Given the description of an element on the screen output the (x, y) to click on. 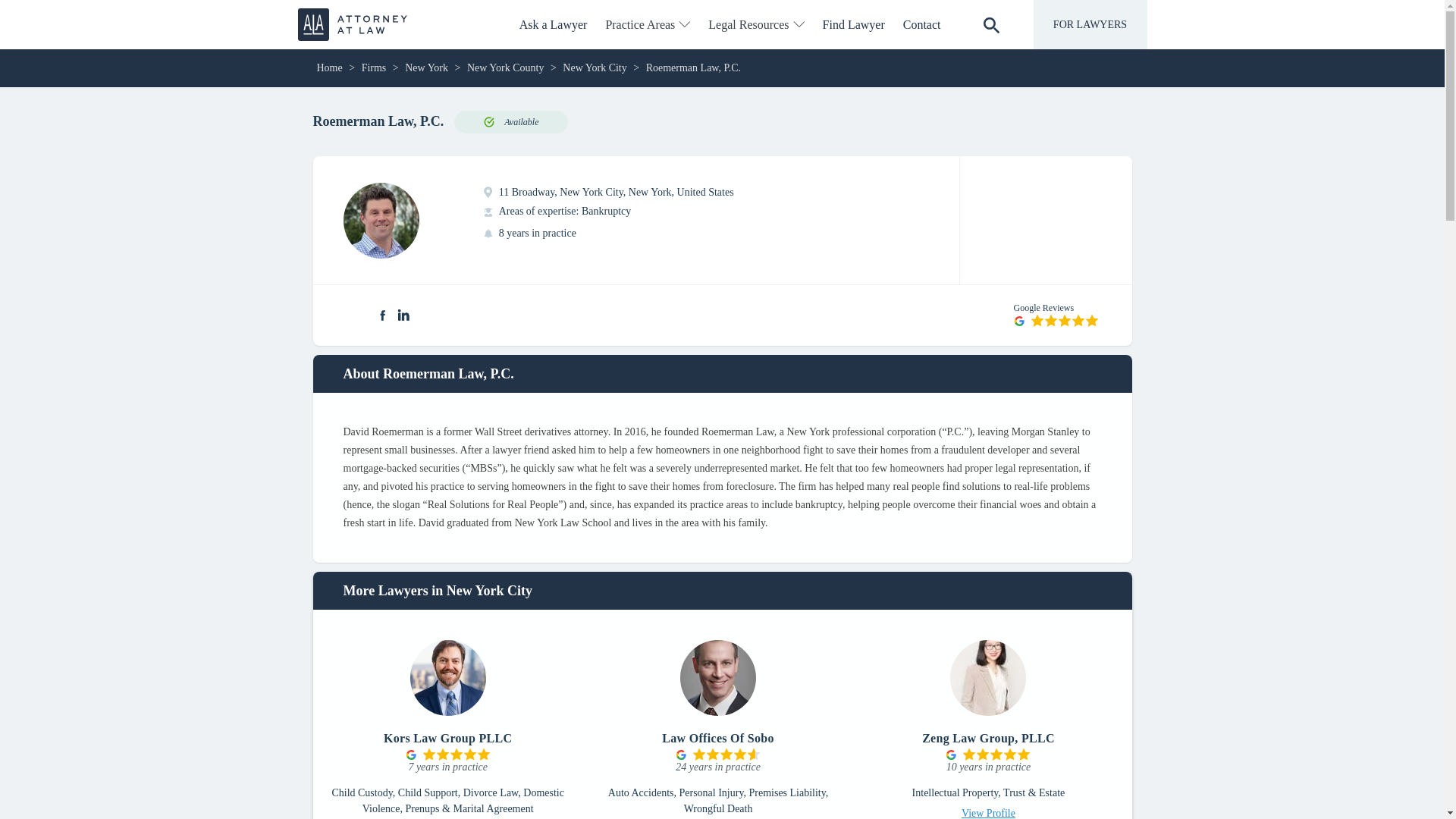
Ask a Lawyer (553, 24)
Practice Areas (646, 24)
